Given the description of an element on the screen output the (x, y) to click on. 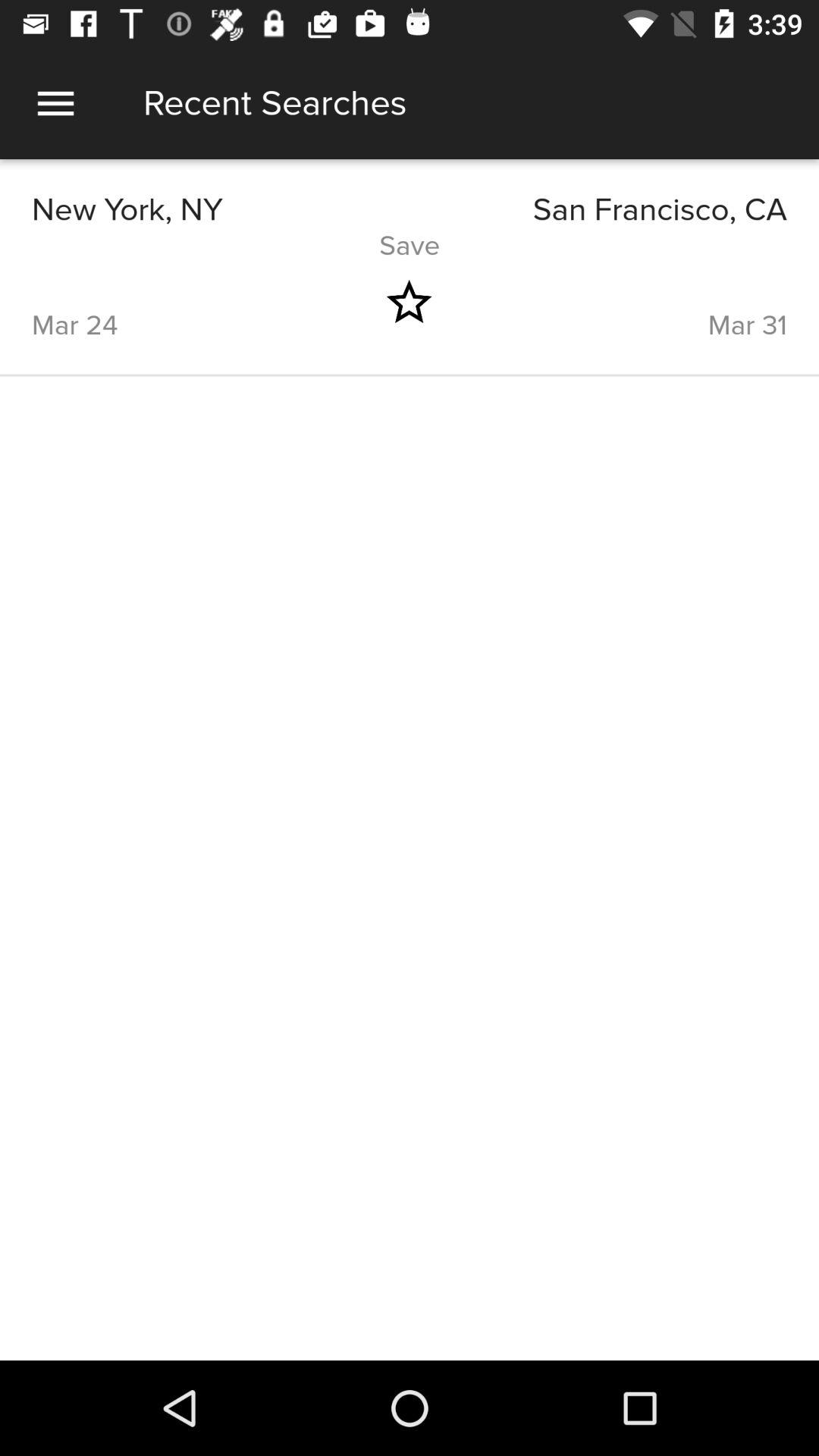
flip to mar 31 item (635, 302)
